Given the description of an element on the screen output the (x, y) to click on. 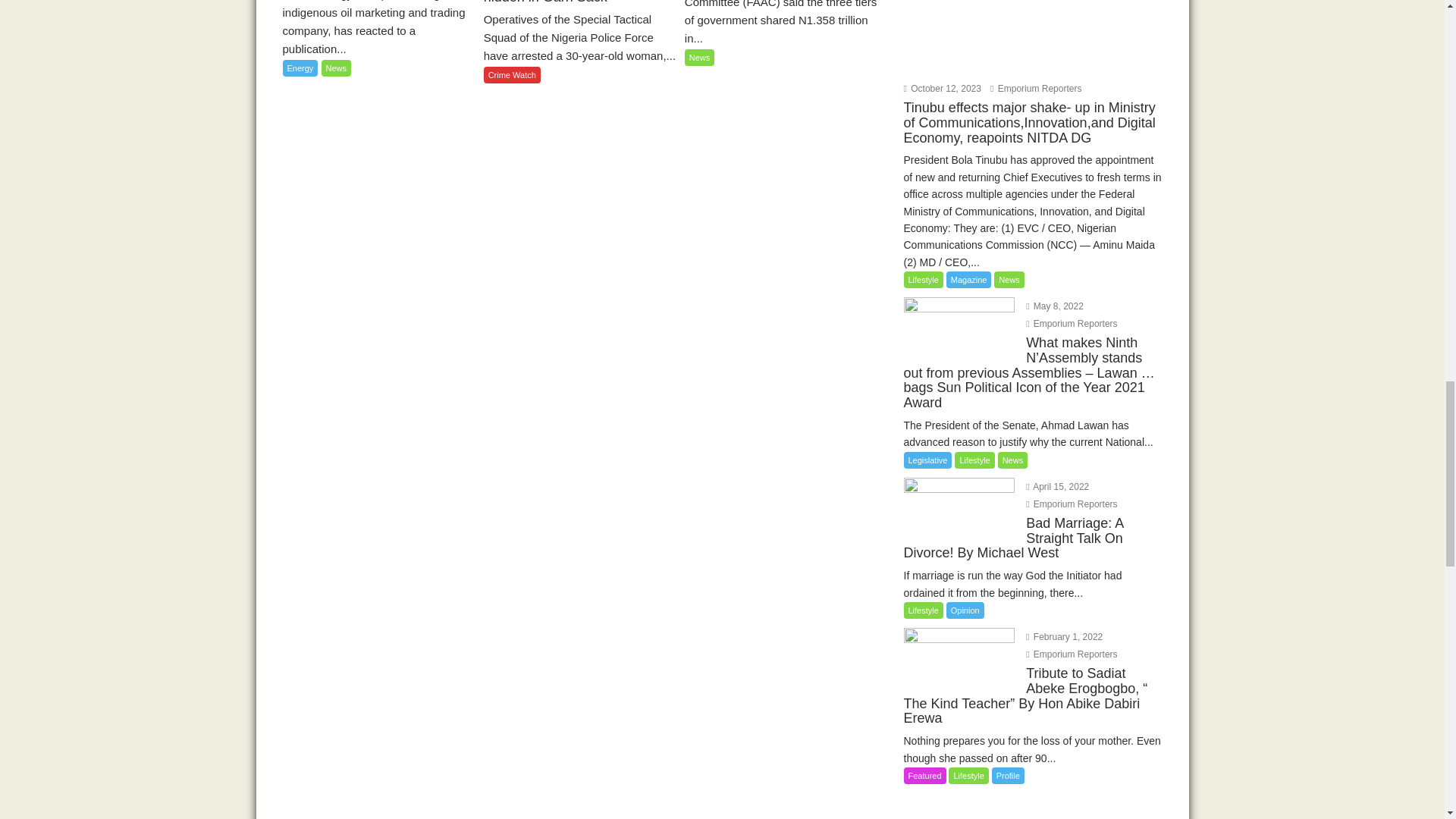
Emporium Reporters (1071, 654)
Emporium Reporters (1071, 503)
Emporium Reporters (1071, 323)
Emporium Reporters (1035, 88)
